Given the description of an element on the screen output the (x, y) to click on. 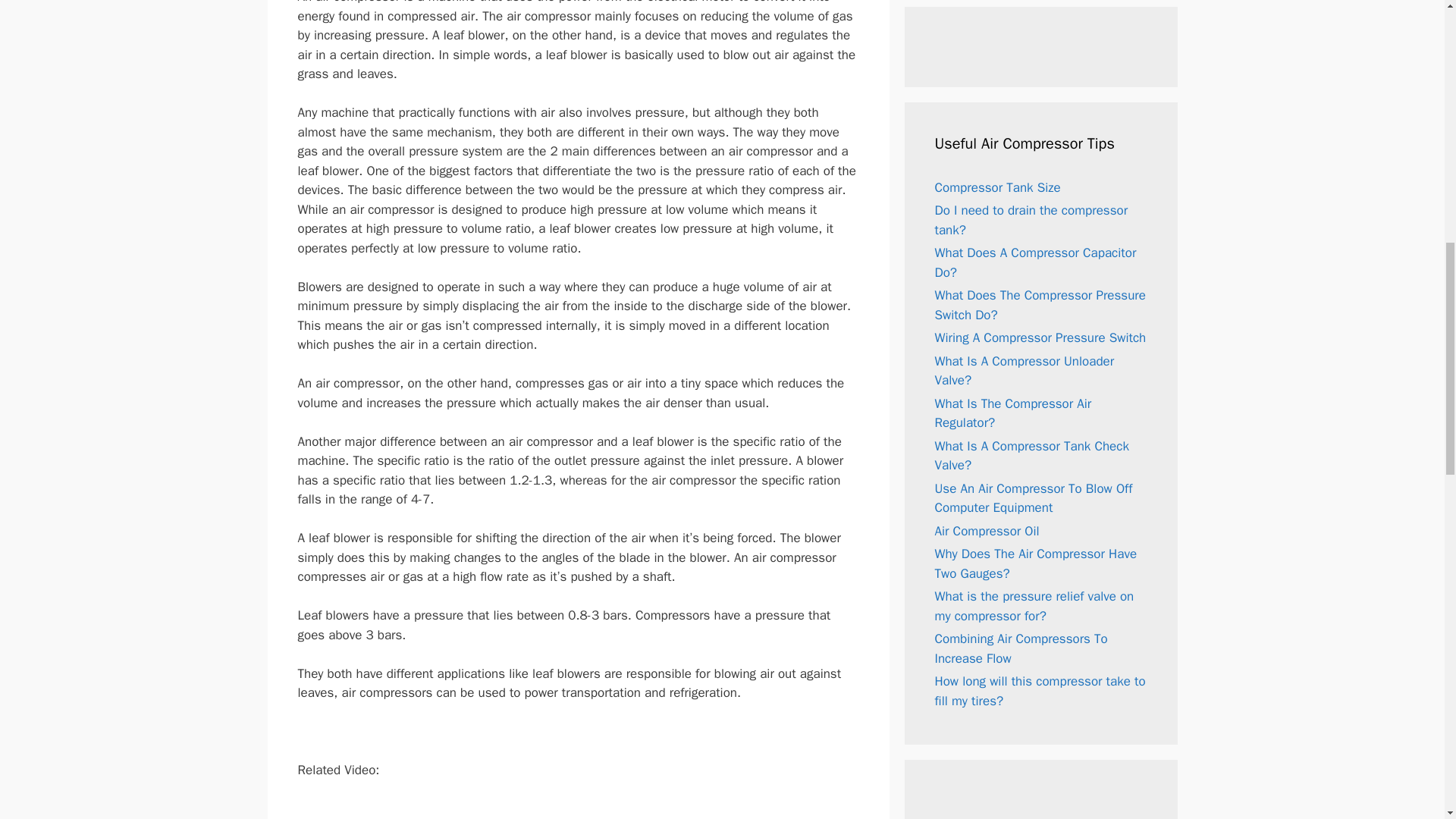
AIR NOZZLE VS LEAF BLOWER!!! (578, 809)
